Given the description of an element on the screen output the (x, y) to click on. 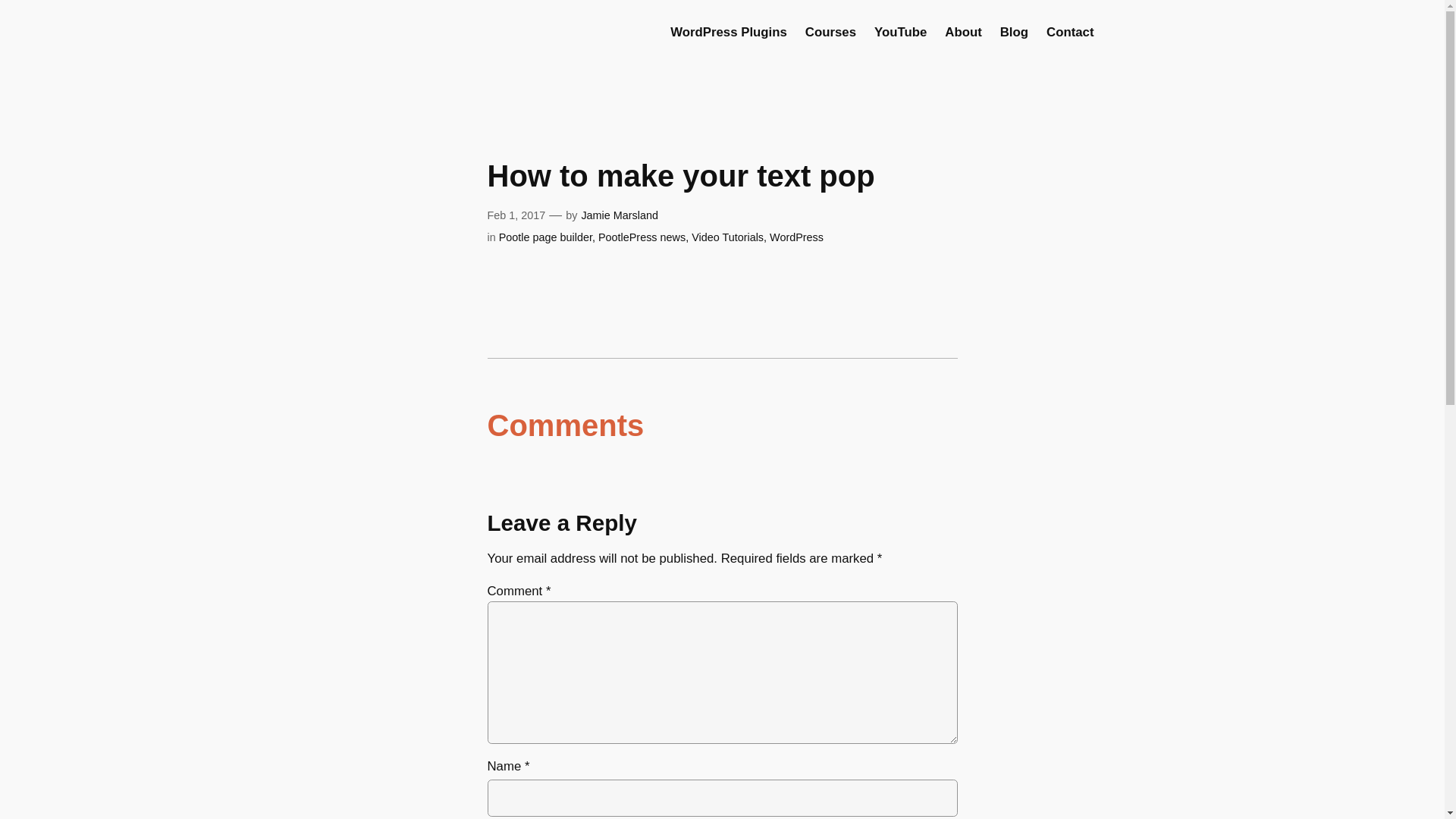
Jamie Marsland (619, 215)
Video Tutorials (726, 236)
PootlePress news (641, 236)
Pootle page builder (545, 236)
Contact (1069, 32)
Courses (830, 32)
WordPress Plugins (728, 32)
YouTube (900, 32)
About (962, 32)
WordPress (797, 236)
Blog (1013, 32)
Feb 1, 2017 (515, 215)
